Given the description of an element on the screen output the (x, y) to click on. 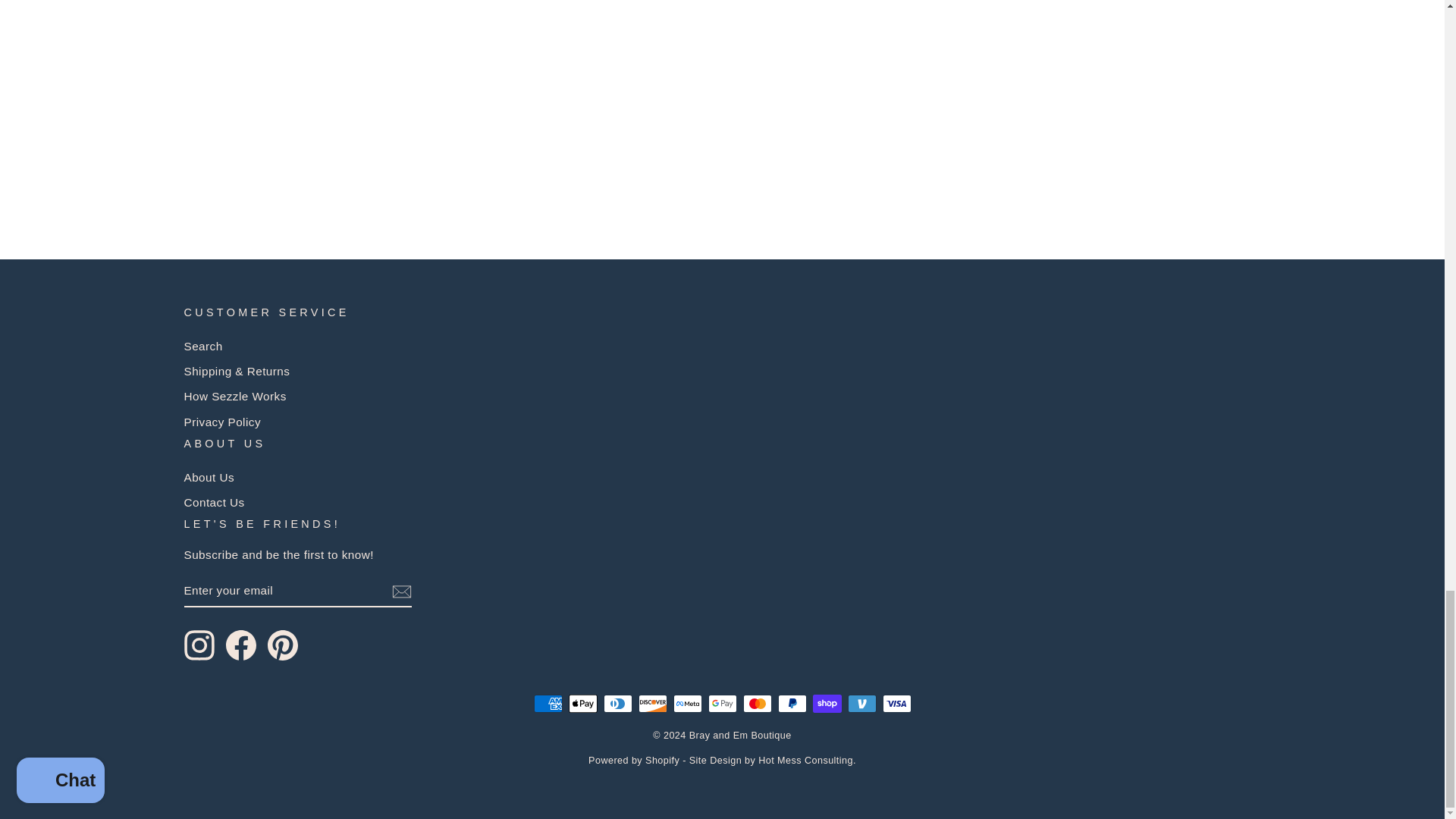
Bray and Em Boutique on Facebook (240, 644)
American Express (548, 703)
Apple Pay (582, 703)
Bray and Em Boutique on Instagram (198, 644)
Diners Club (617, 703)
Bray and Em Boutique on Pinterest (281, 644)
Discover (652, 703)
